Given the description of an element on the screen output the (x, y) to click on. 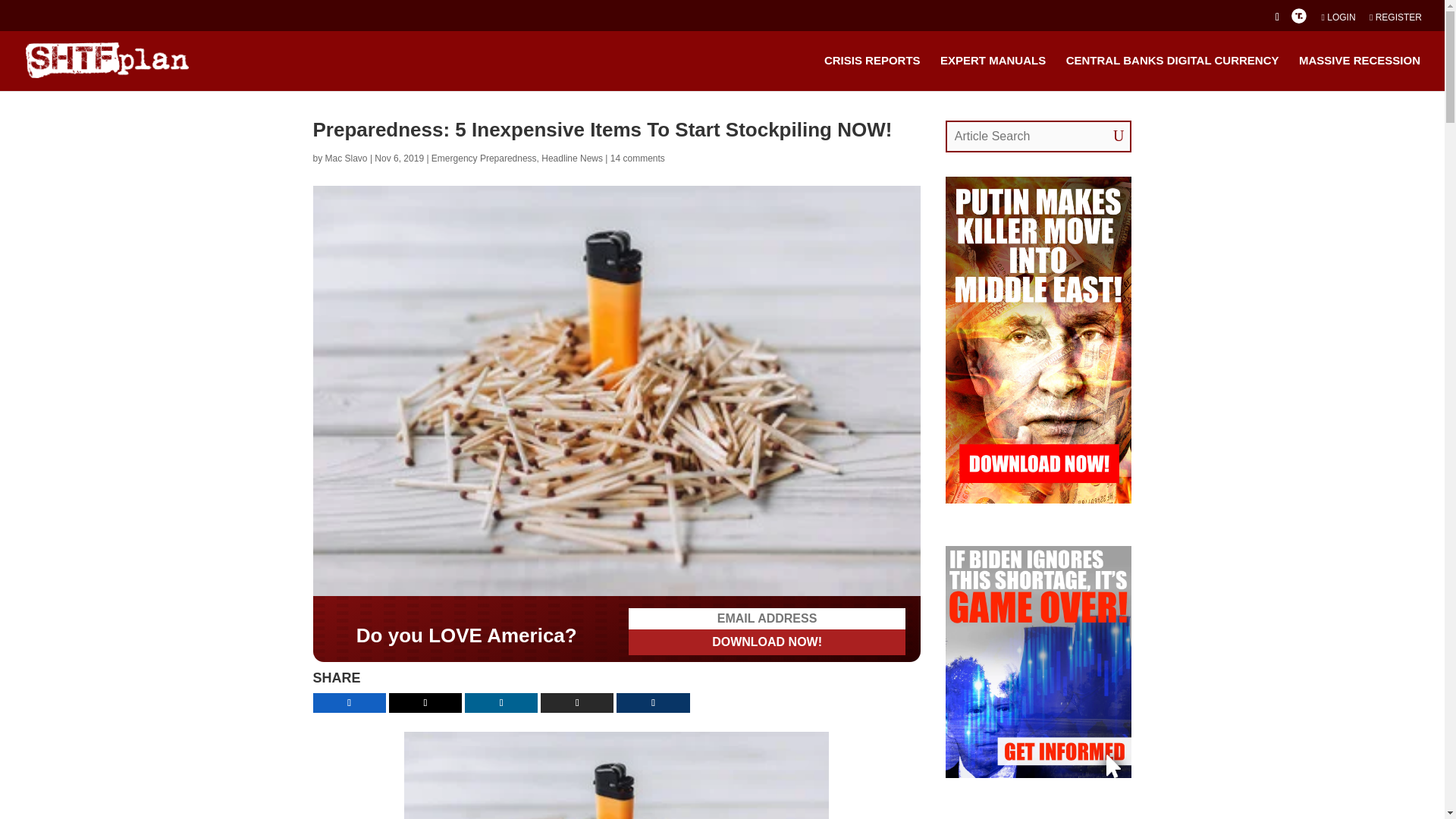
Download Now! (766, 575)
REGISTER (1396, 20)
Posts by Mac Slavo (346, 158)
EXPERT MANUALS (992, 72)
Emergency Preparedness (483, 158)
CENTRAL BANKS DIGITAL CURRENCY (1172, 72)
Headline News (571, 158)
Download Now! (766, 575)
CRISIS REPORTS (872, 72)
MASSIVE RECESSION (1359, 72)
Mac Slavo (346, 158)
14 comments (637, 158)
LOGIN (1337, 20)
